Given the description of an element on the screen output the (x, y) to click on. 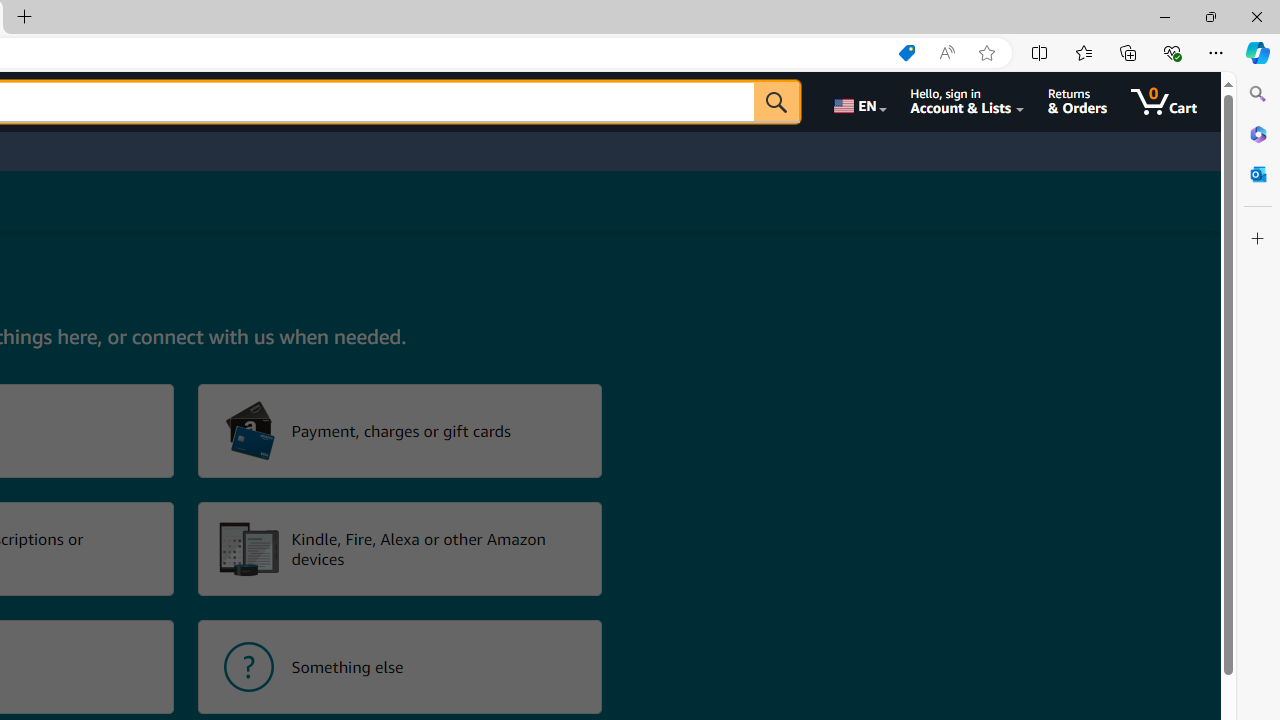
0 items in cart (1163, 101)
Payment, charges or gift cards (400, 430)
Hello, sign in Account & Lists (967, 101)
Choose a language for shopping. (858, 101)
